Given the description of an element on the screen output the (x, y) to click on. 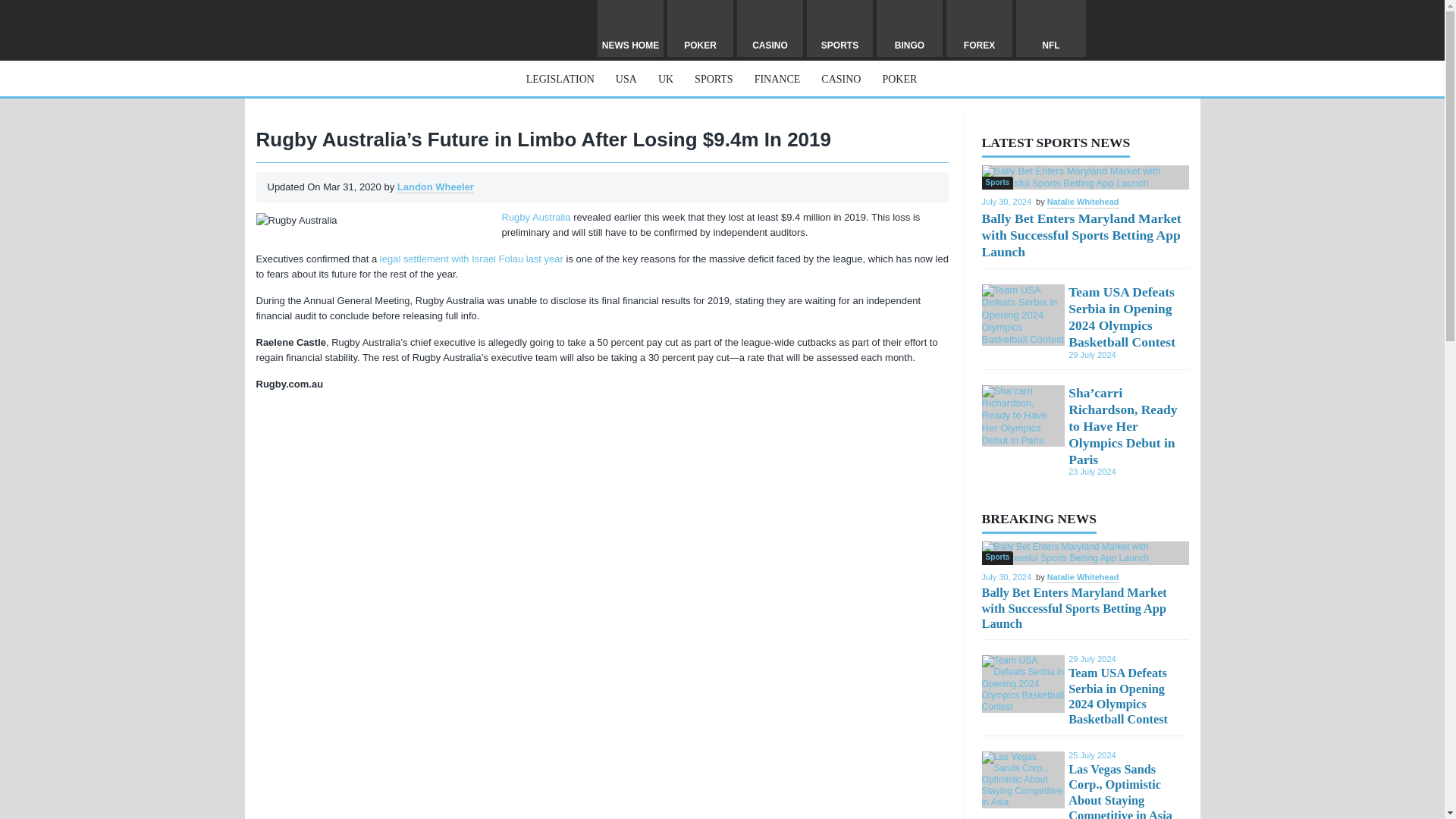
USA (625, 79)
SPORTS (839, 28)
CASINO (769, 28)
FINANCE (777, 79)
LEGISLATION (560, 79)
legal settlement with Israel Folau last year (471, 258)
UK (664, 79)
Landon Wheeler (435, 186)
FOREX (978, 28)
BINGO (909, 28)
Rugby Australia (536, 216)
POKER (899, 79)
SPORTS (713, 79)
NFL (1051, 28)
NEWS HOME (629, 28)
